Given the description of an element on the screen output the (x, y) to click on. 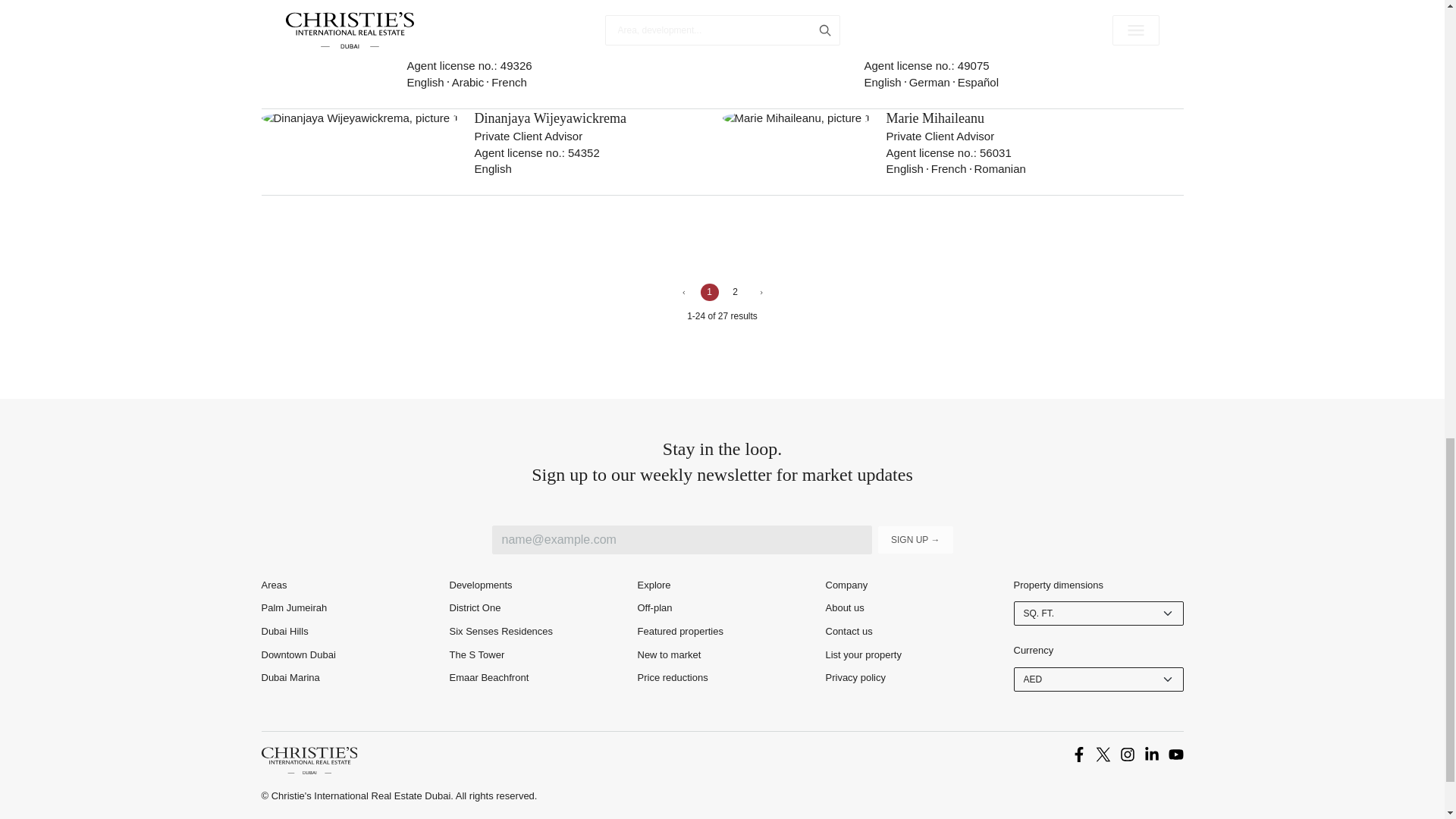
Linkedin (1150, 753)
Facebook (1078, 753)
Instagram (1126, 753)
Twitter (1101, 753)
Youtube (1174, 753)
